Given the description of an element on the screen output the (x, y) to click on. 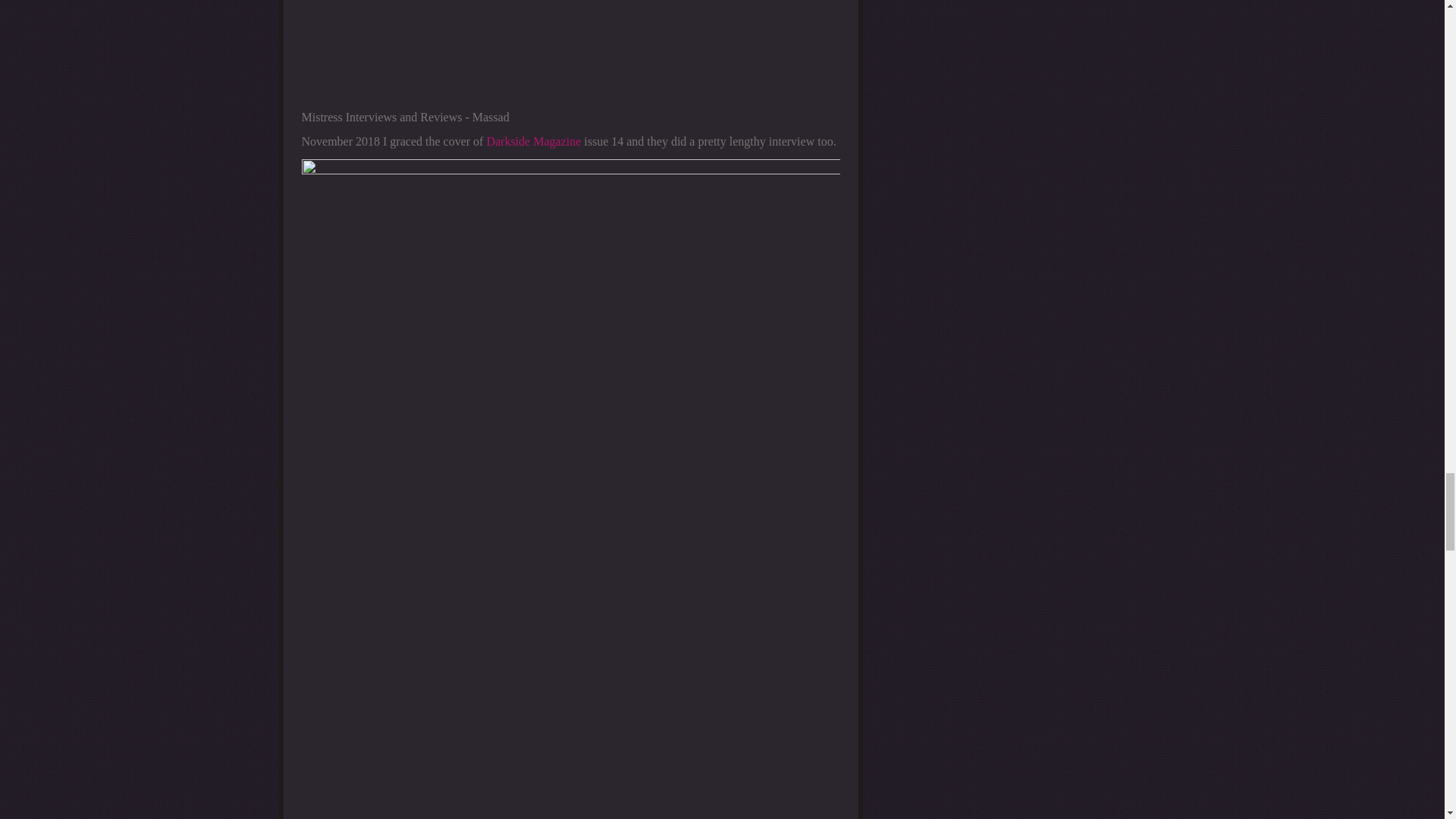
Darkside Magazine (533, 141)
